Given the description of an element on the screen output the (x, y) to click on. 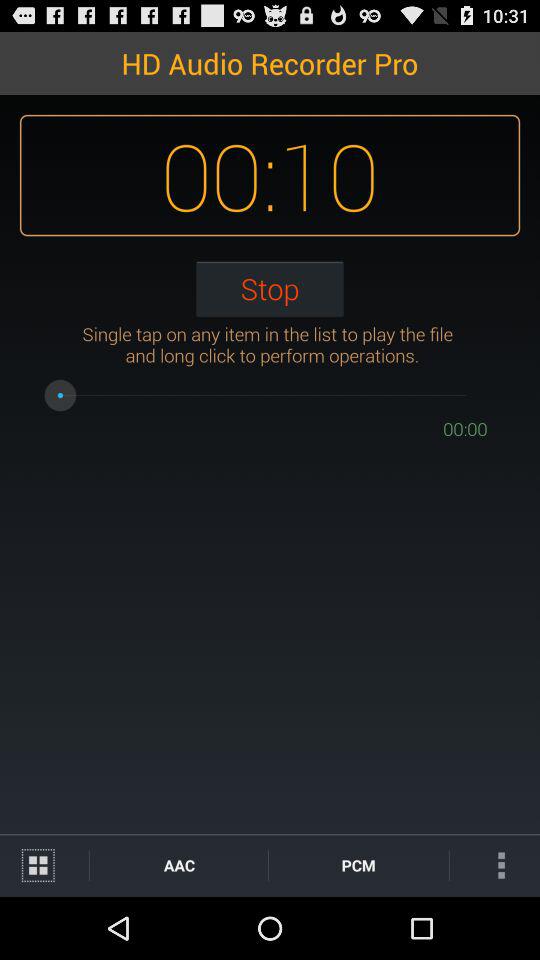
change the list display to grid (44, 865)
